Given the description of an element on the screen output the (x, y) to click on. 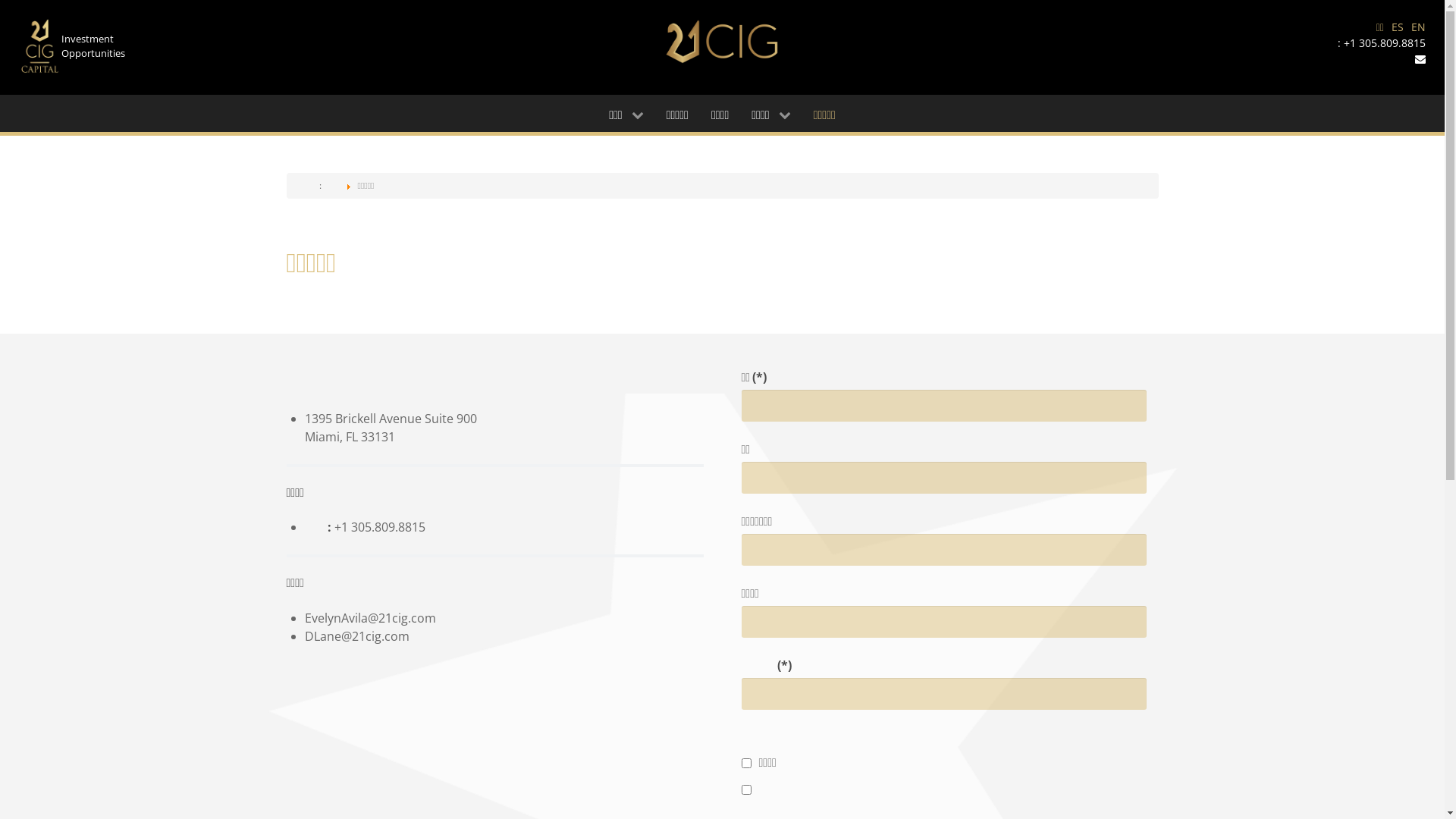
+1 305.809.8815 Element type: text (1384, 42)
EvelynAvila@21cig.com Element type: text (370, 617)
DLane@21cig.com Element type: text (356, 635)
ES Element type: text (1397, 26)
Investment
Opportunities Element type: text (93, 45)
EN Element type: text (1418, 26)
21 CIG Element type: hover (721, 40)
